Given the description of an element on the screen output the (x, y) to click on. 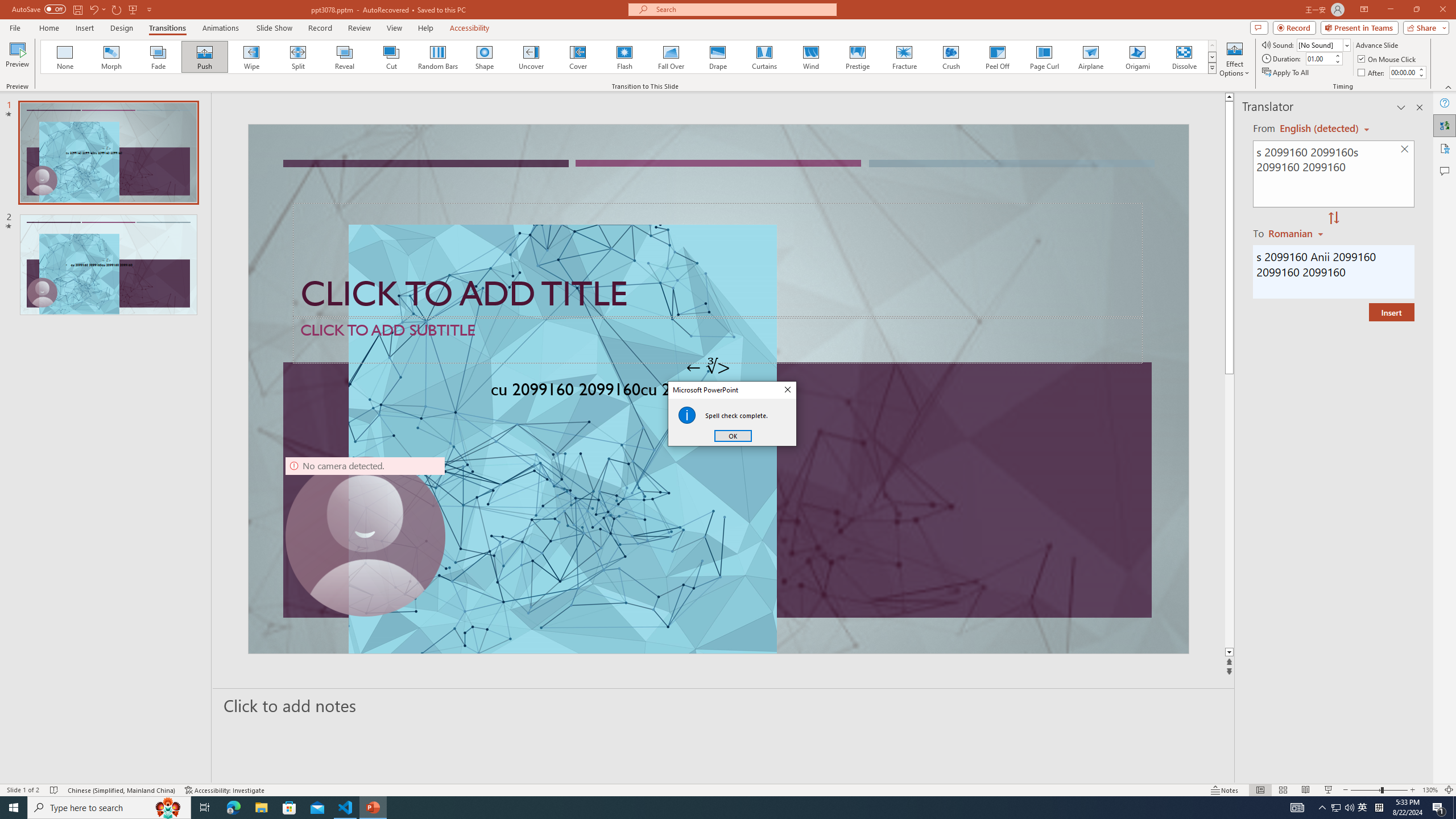
Peel Off (997, 56)
Crush (950, 56)
Apply To All (1286, 72)
Clear text (1404, 149)
Push (205, 56)
Prestige (857, 56)
Czech (detected) (1319, 128)
